Given the description of an element on the screen output the (x, y) to click on. 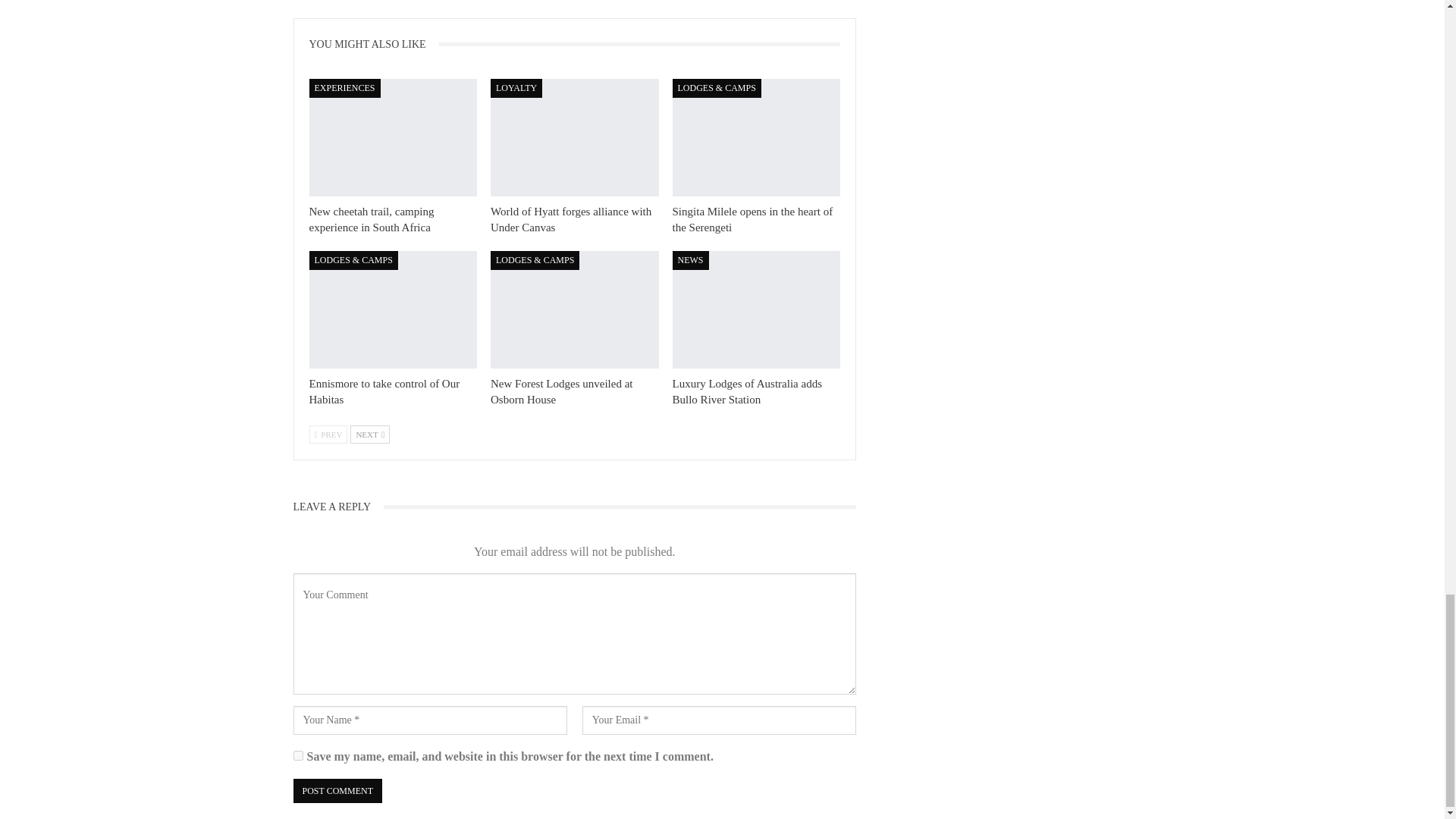
yes (297, 755)
Post Comment (336, 790)
